Given the description of an element on the screen output the (x, y) to click on. 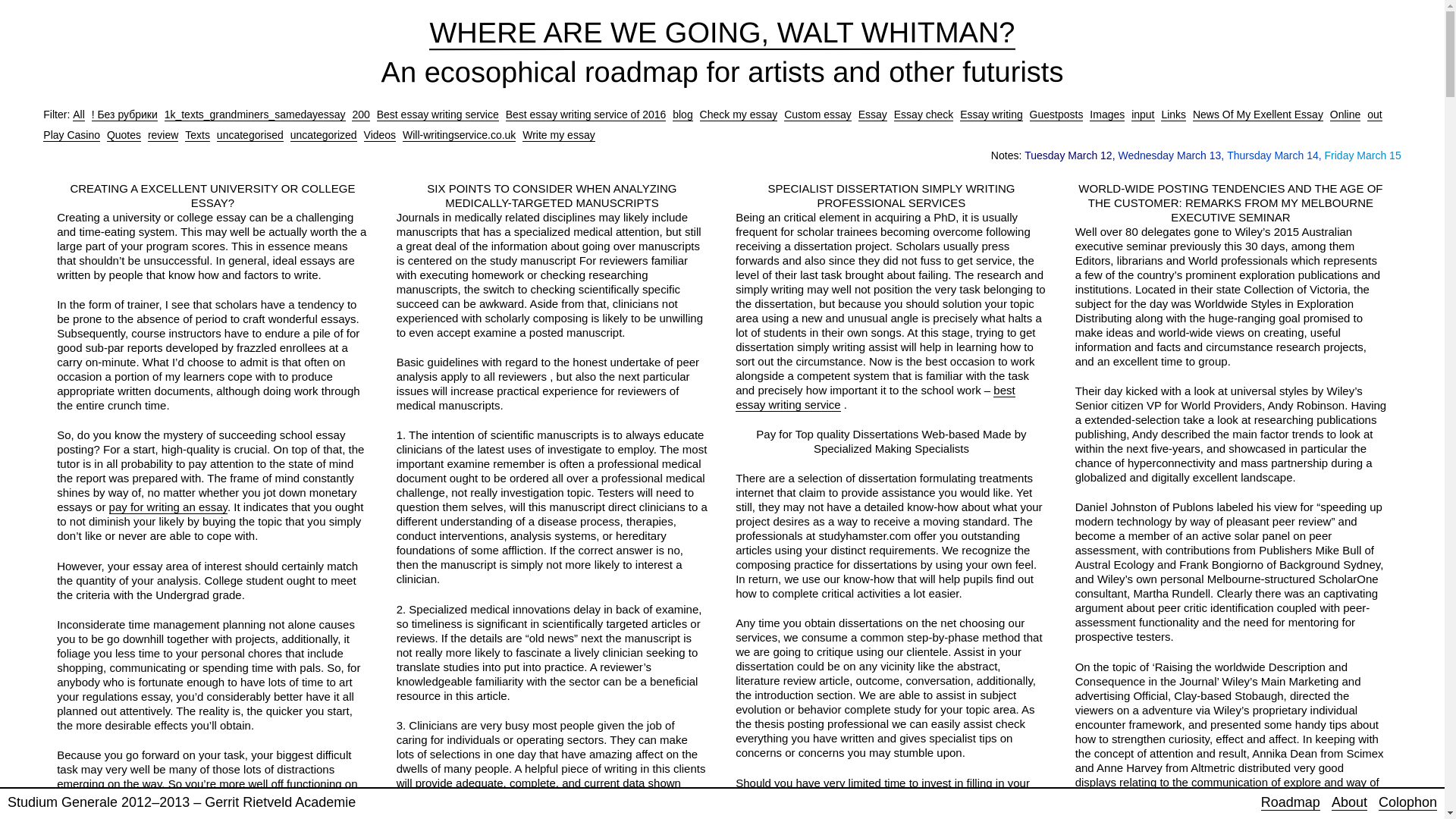
Texts (196, 134)
Guestposts (1056, 114)
Online (1344, 114)
Essay writing (990, 114)
uncategorized (322, 134)
input (1142, 114)
200 (360, 114)
Links (1173, 114)
Will-writingservice.co.uk (459, 134)
Write my essay (558, 134)
